Given the description of an element on the screen output the (x, y) to click on. 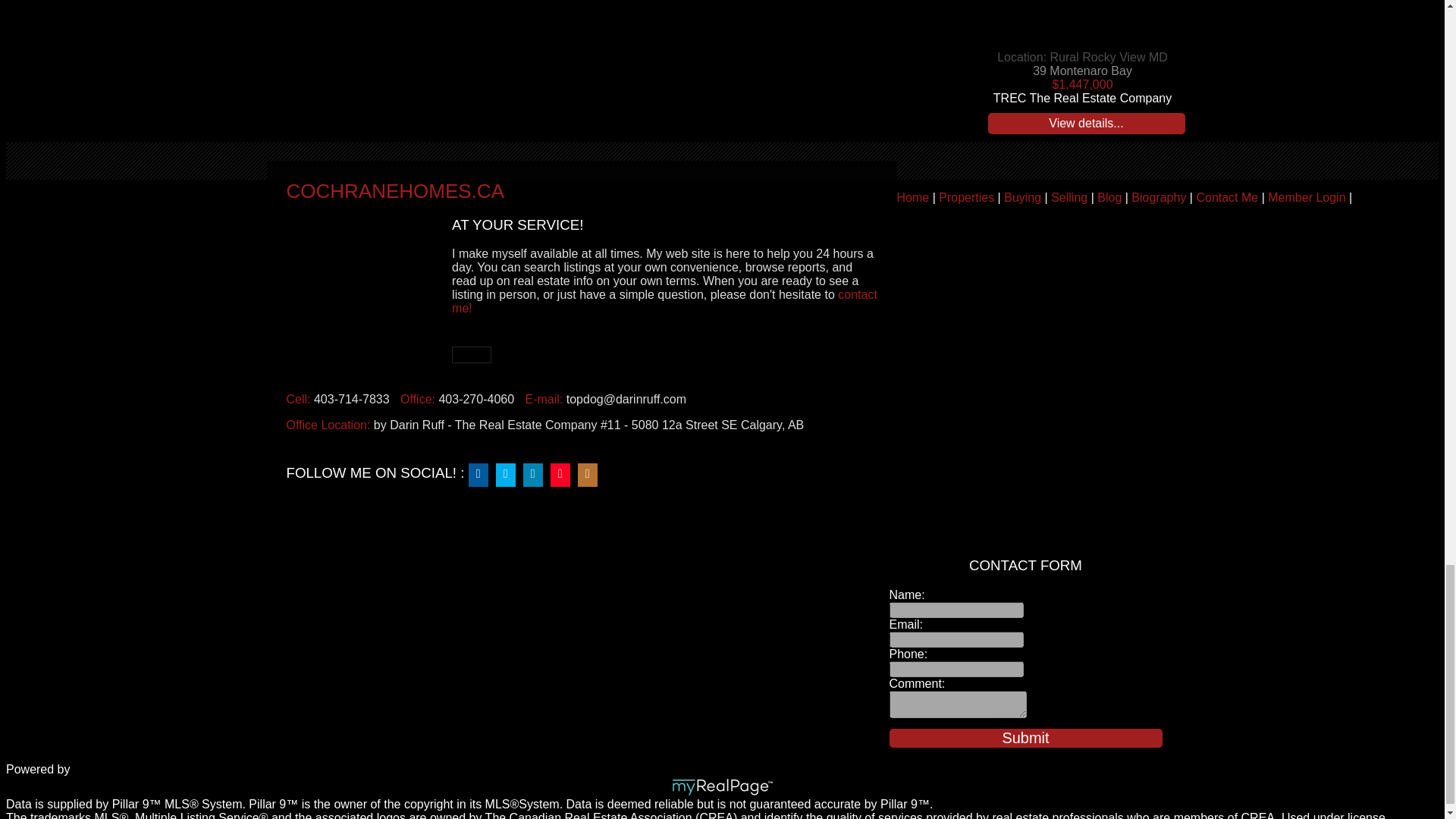
Contact Me (1226, 196)
Member Login (1306, 196)
Selling (1069, 196)
Home (912, 196)
Properties (966, 196)
Blog (1109, 196)
Biography (1158, 196)
View details... (1086, 123)
Buying (1022, 196)
